Given the description of an element on the screen output the (x, y) to click on. 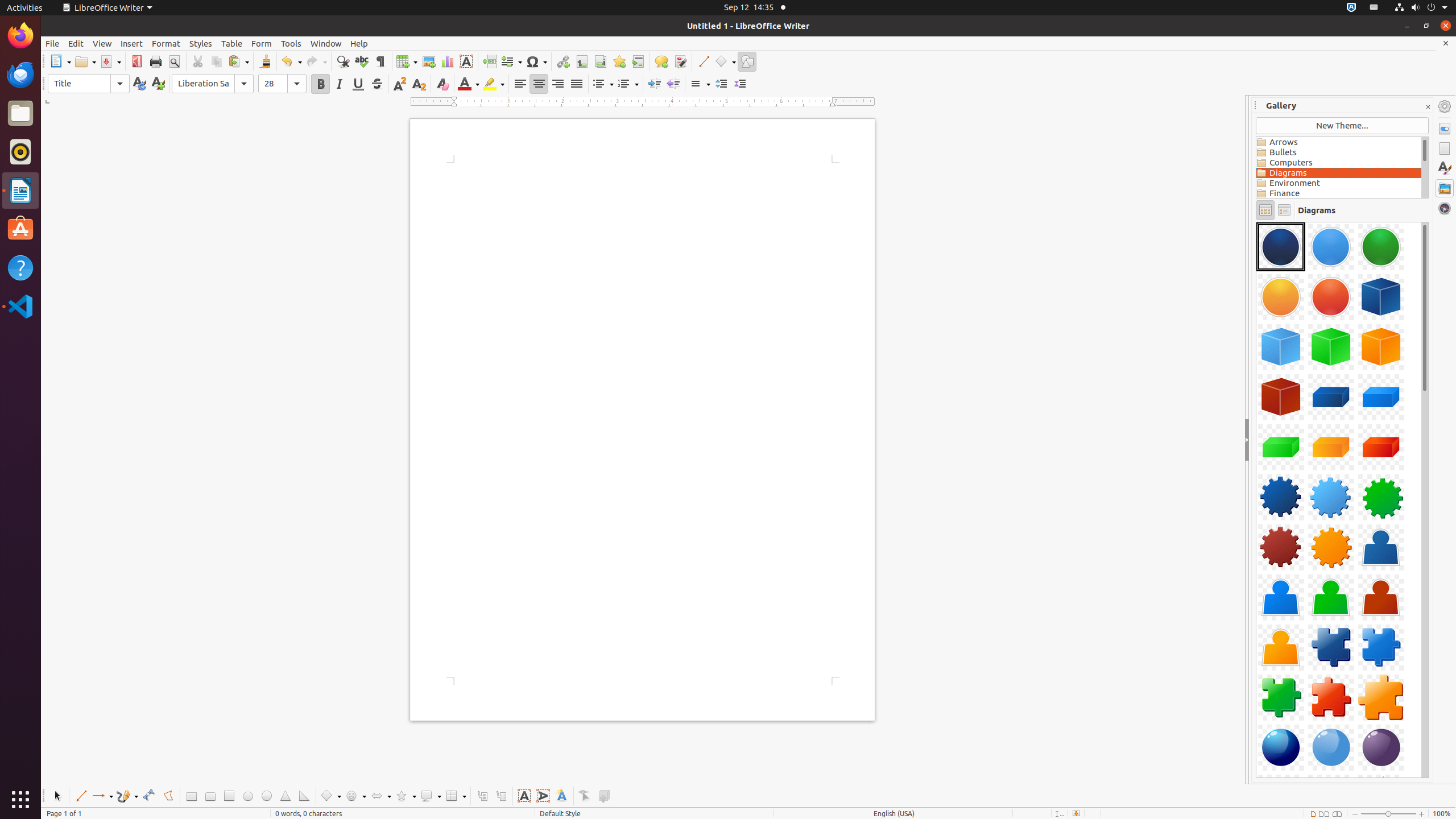
Circle Element type: push-button (266, 795)
Star Shapes Element type: push-button (405, 795)
Cycle01-Transparent Element type: list-item (1256, 222)
:1.21/StatusNotifierItem Element type: menu (1373, 7)
Detailed View Element type: toggle-button (1283, 210)
